Given the description of an element on the screen output the (x, y) to click on. 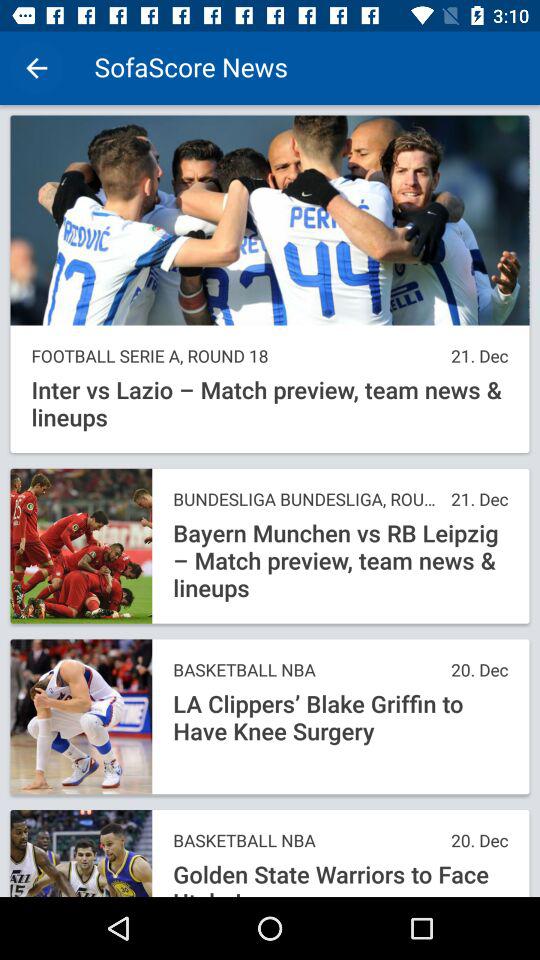
press the item below the basketball nba  icon (340, 878)
